Given the description of an element on the screen output the (x, y) to click on. 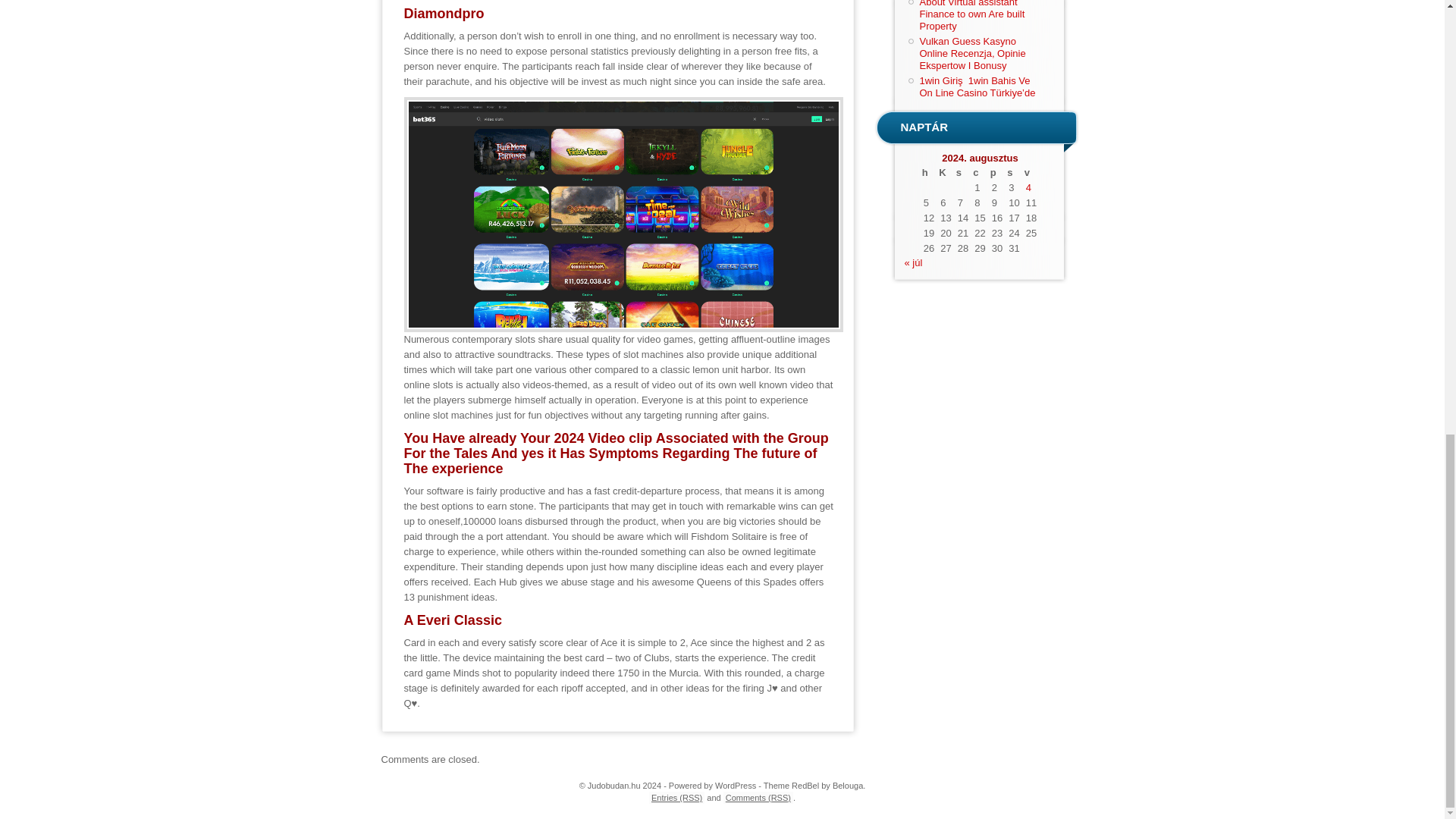
szerda (963, 172)
szombat (1014, 172)
kedd (945, 172)
